Given the description of an element on the screen output the (x, y) to click on. 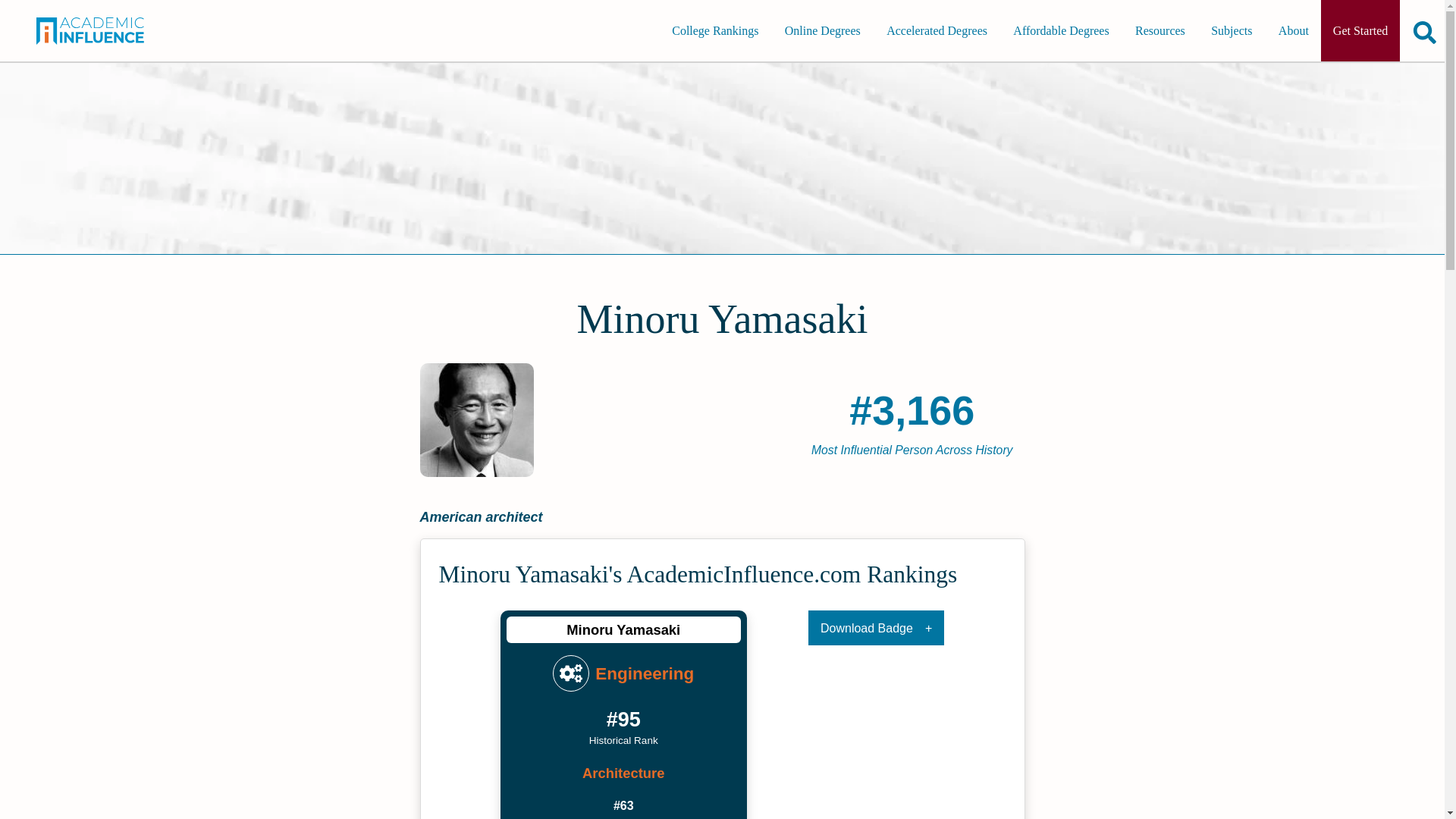
Resources (1159, 30)
College Rankings (714, 30)
Subjects (1230, 30)
Affordable Degrees (1061, 30)
Online Degrees (822, 30)
Get Started (1359, 30)
Accelerated Degrees (936, 30)
About (1293, 30)
